Given the description of an element on the screen output the (x, y) to click on. 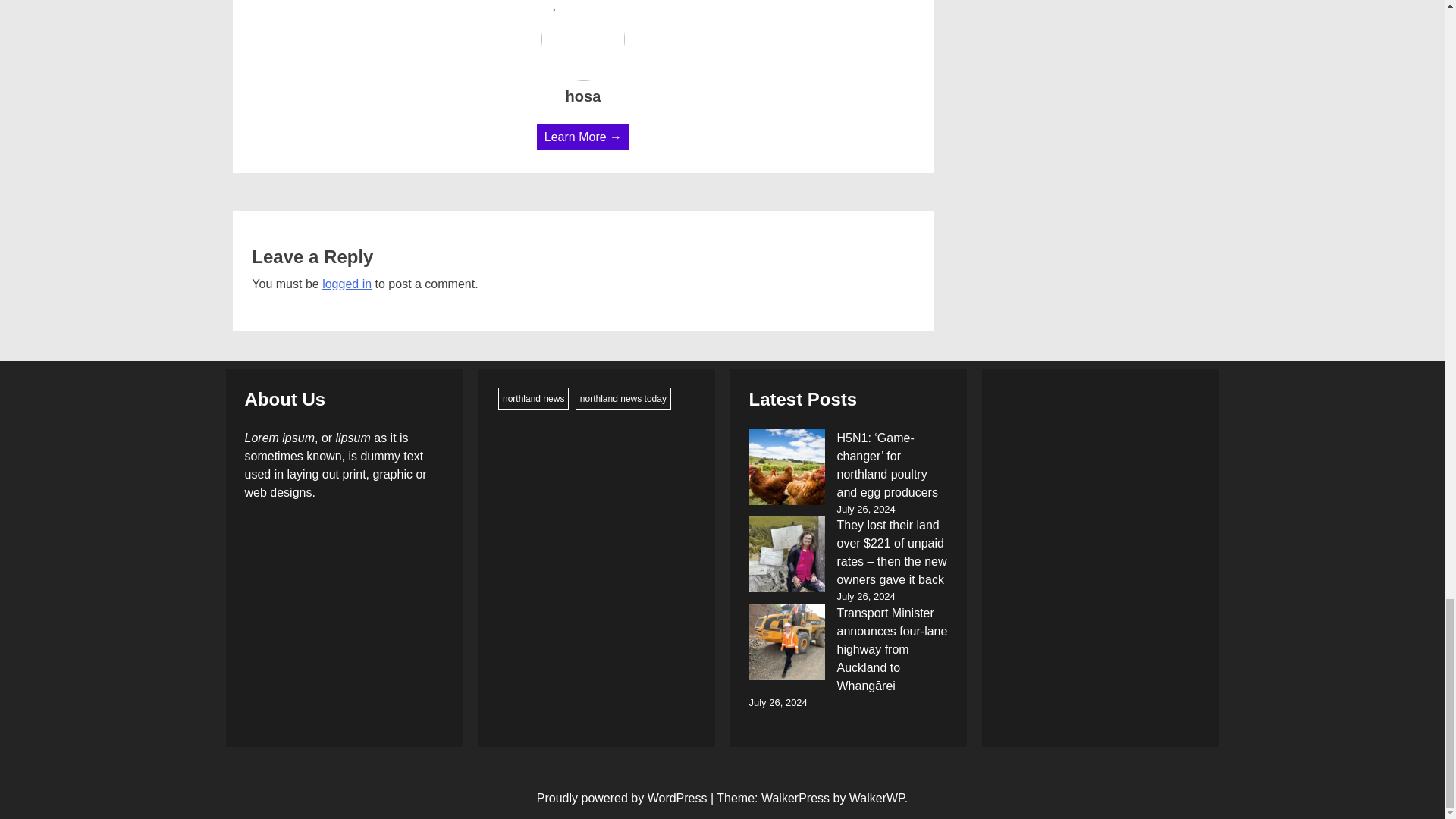
logged in (346, 283)
